Given the description of an element on the screen output the (x, y) to click on. 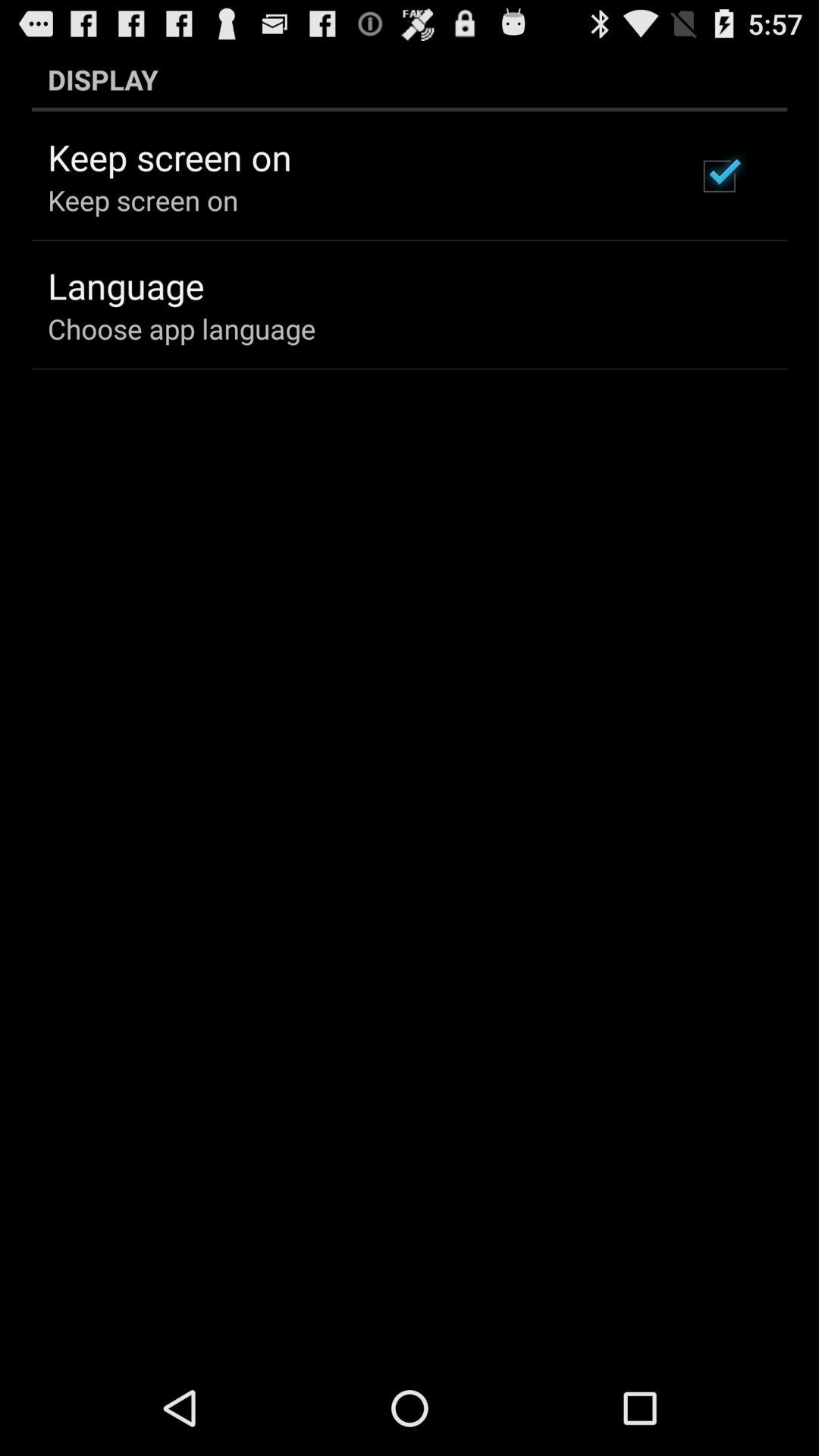
open the app at the top (409, 79)
